Given the description of an element on the screen output the (x, y) to click on. 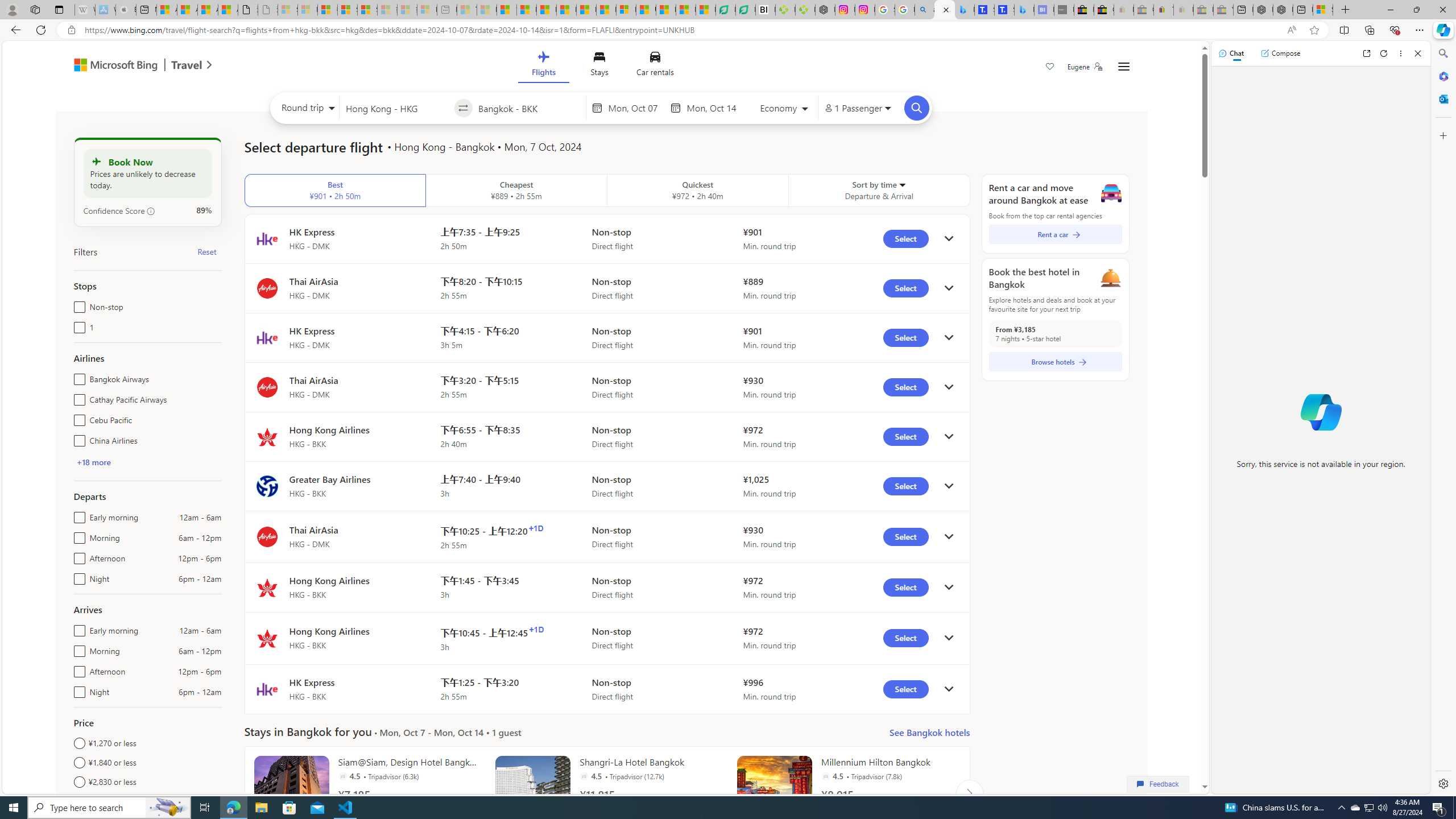
Flight logo (267, 689)
Nvidia va a poner a prueba la paciencia de los inversores (765, 9)
Eugene (1084, 66)
1 (76, 325)
Select class of service (784, 109)
click to get details (948, 688)
Save (1049, 67)
